Given the description of an element on the screen output the (x, y) to click on. 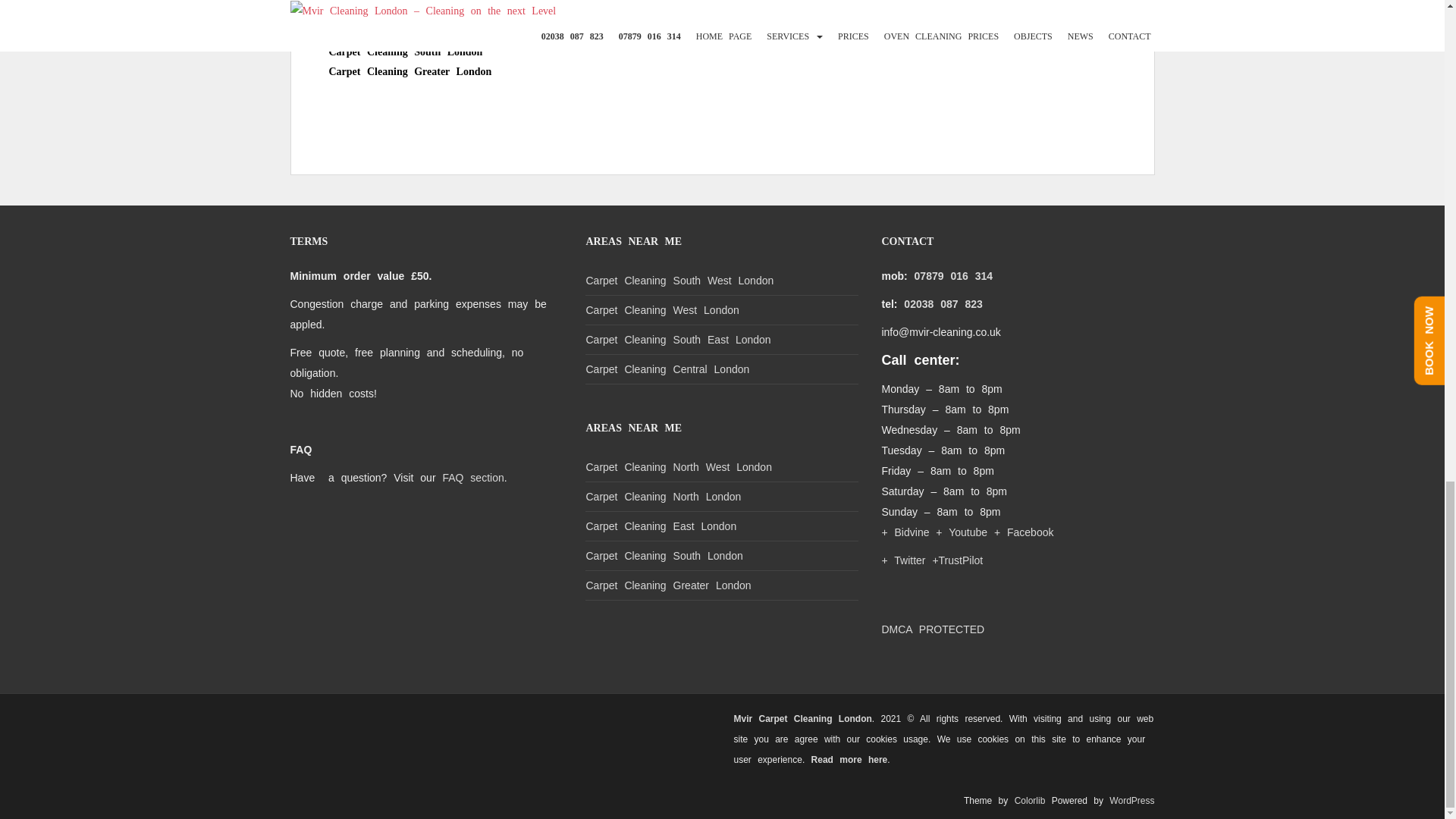
Carpet Cleaning East London (402, 13)
Carpet Cleaning South London (406, 51)
Carpet Cleaning Central London (410, 32)
Carpet Cleaning Greater London (410, 71)
